Given the description of an element on the screen output the (x, y) to click on. 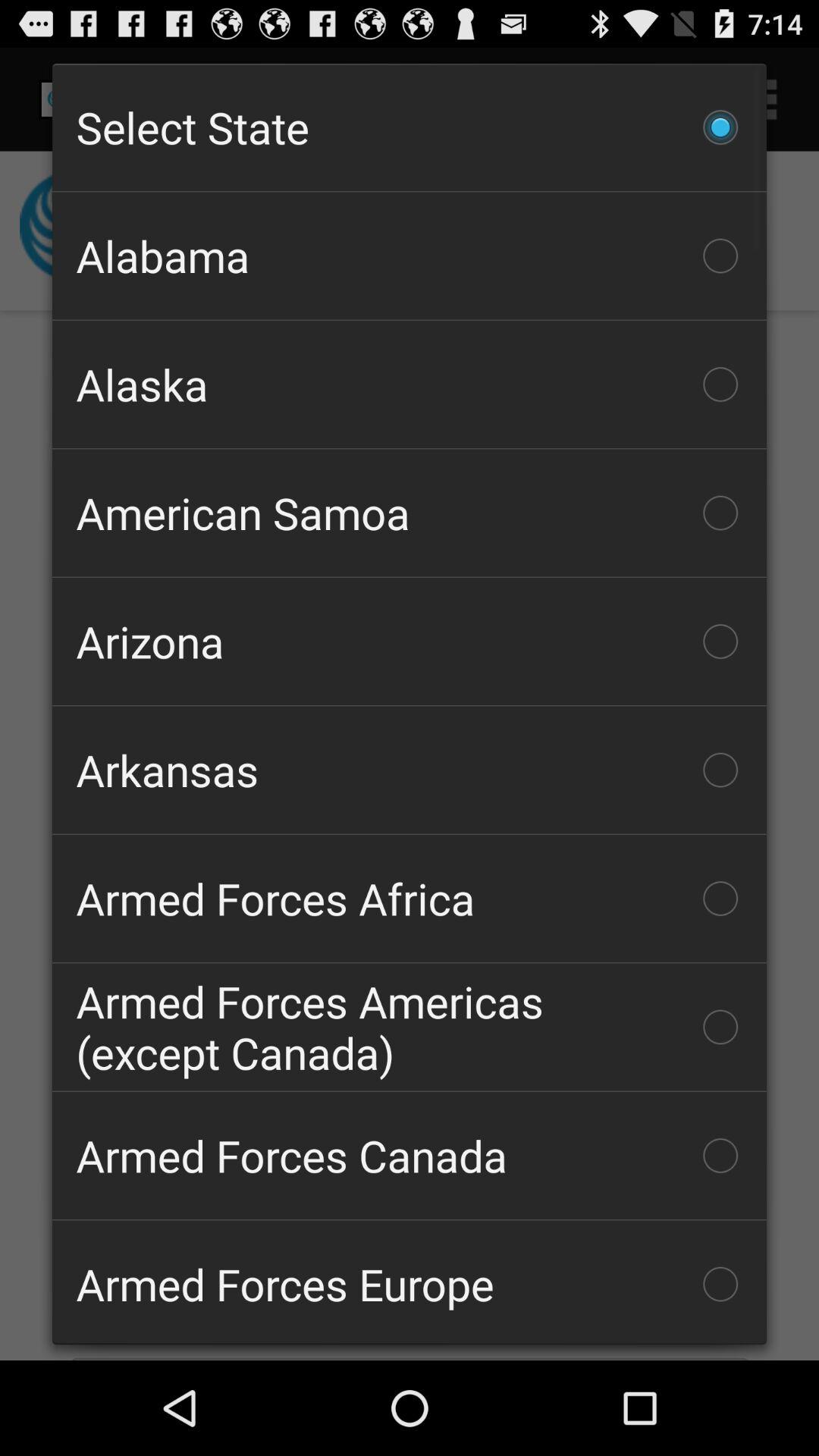
turn off the checkbox above the american samoa icon (409, 384)
